Given the description of an element on the screen output the (x, y) to click on. 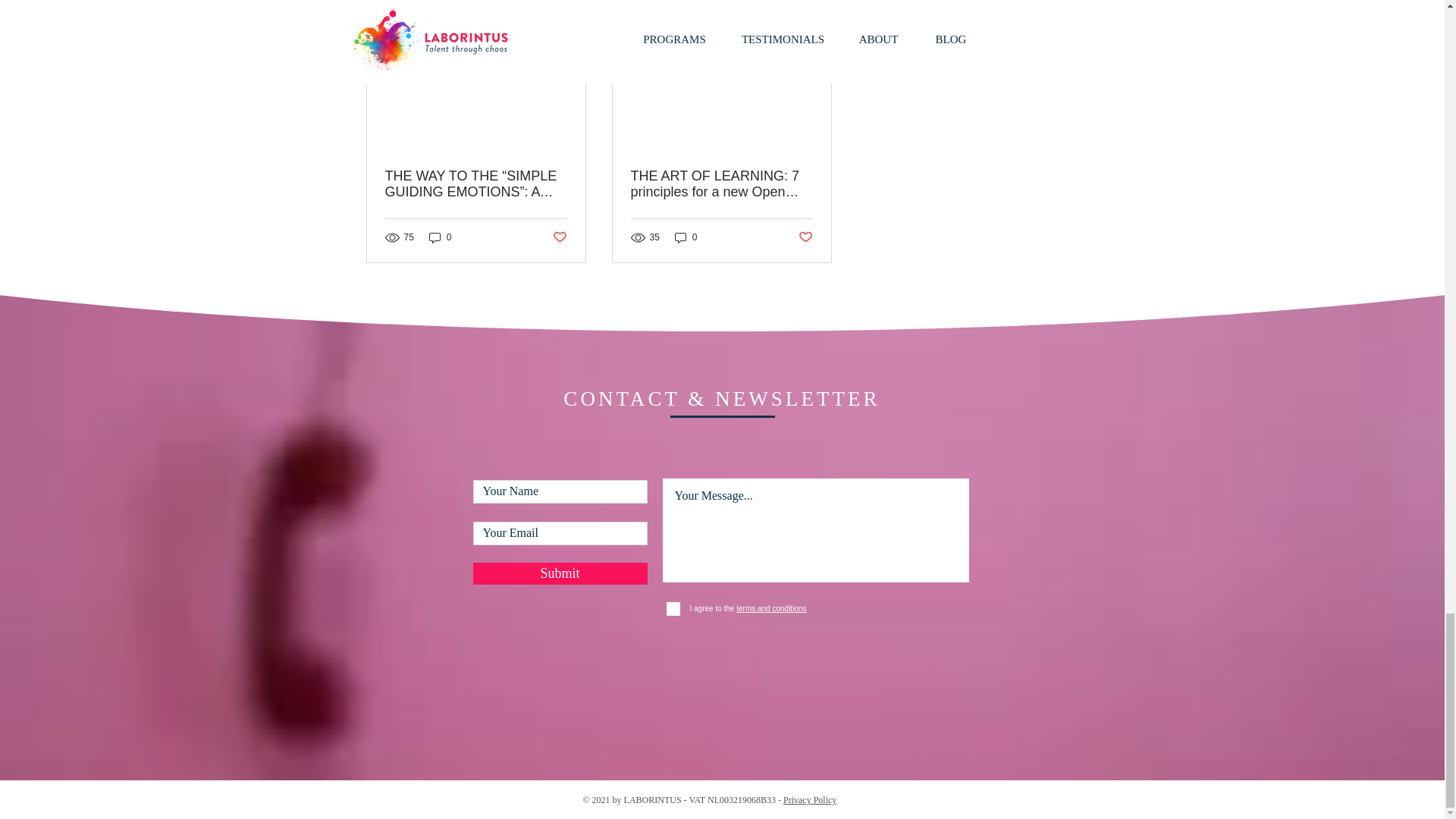
0 (440, 237)
Submit (560, 573)
0 (685, 237)
Post not marked as liked (558, 237)
Post not marked as liked (804, 237)
terms and conditions (769, 608)
See All (1061, 5)
Privacy Policy (809, 799)
